Given the description of an element on the screen output the (x, y) to click on. 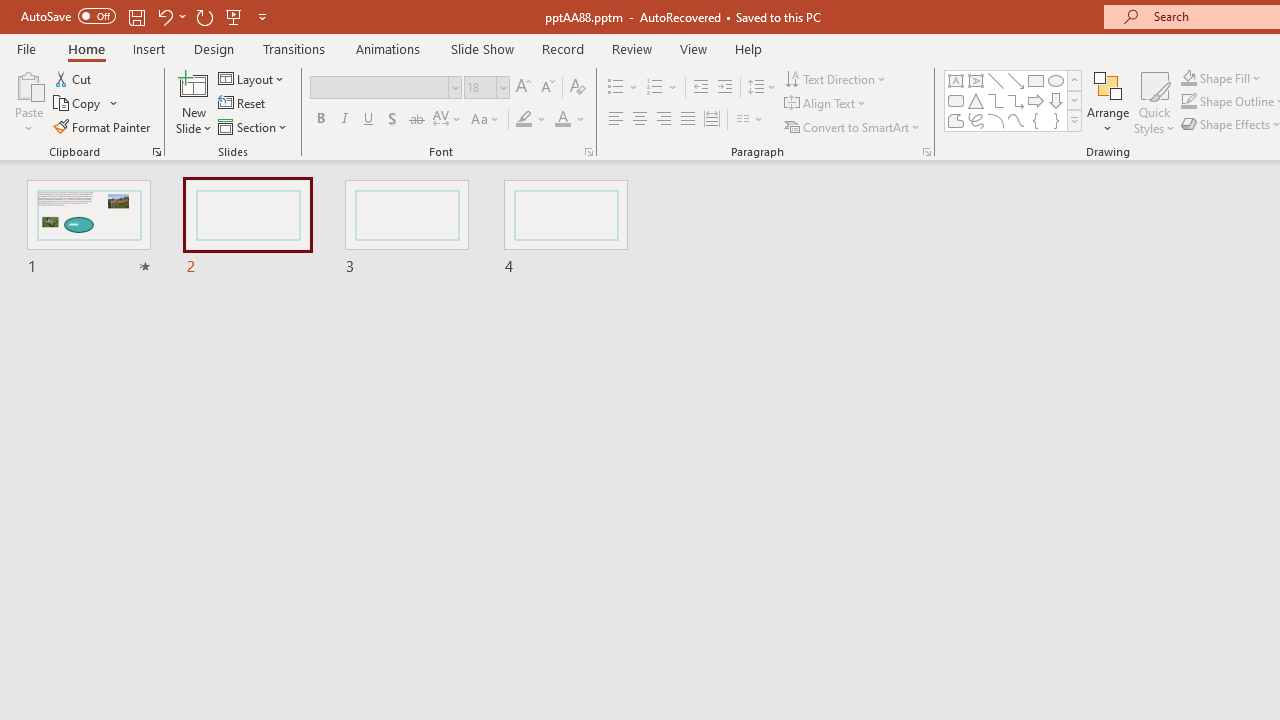
Shape Fill Aqua, Accent 2 (1188, 78)
